Given the description of an element on the screen output the (x, y) to click on. 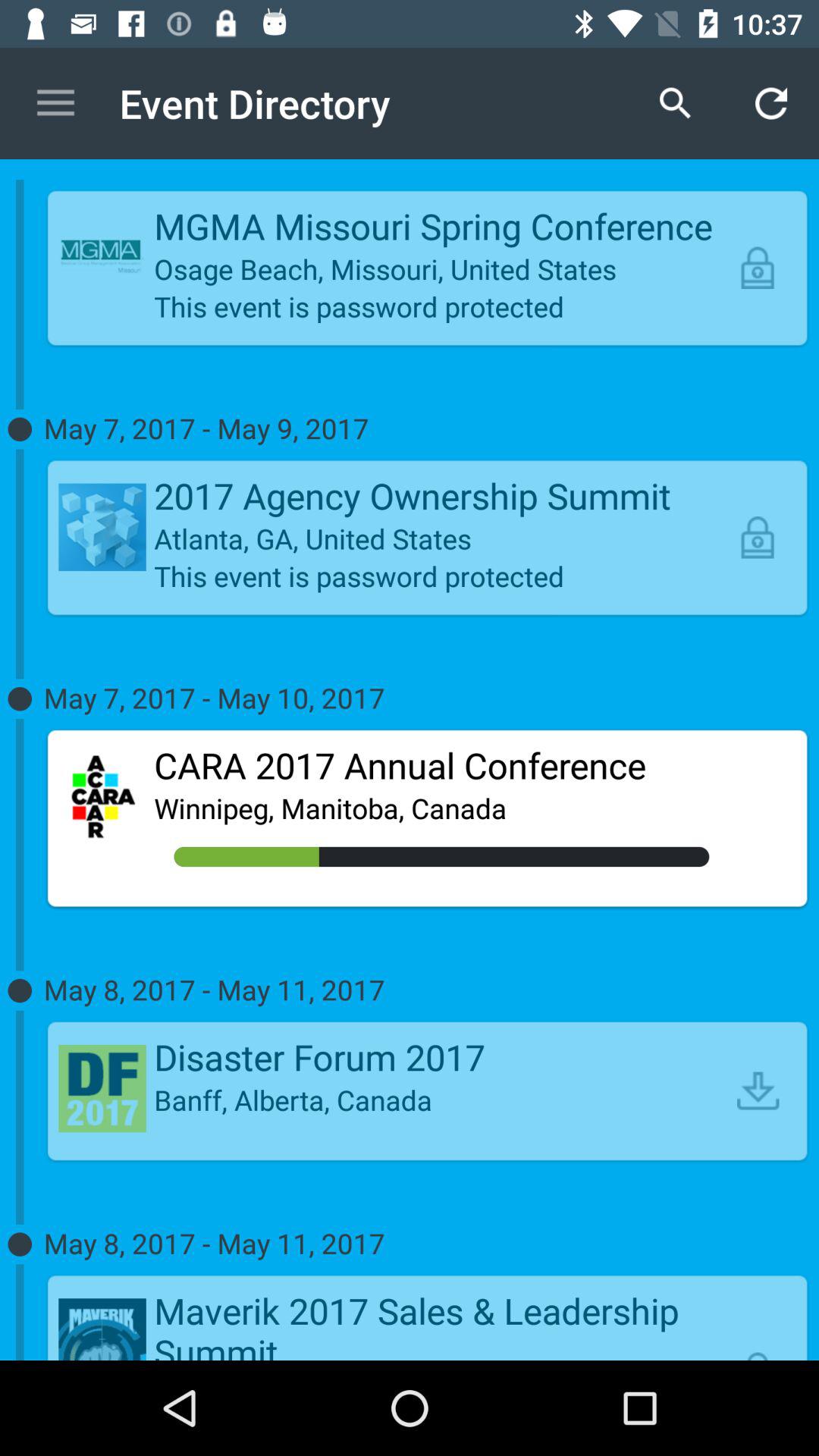
select the icon below the may 8 2017 (758, 1090)
